Given the description of an element on the screen output the (x, y) to click on. 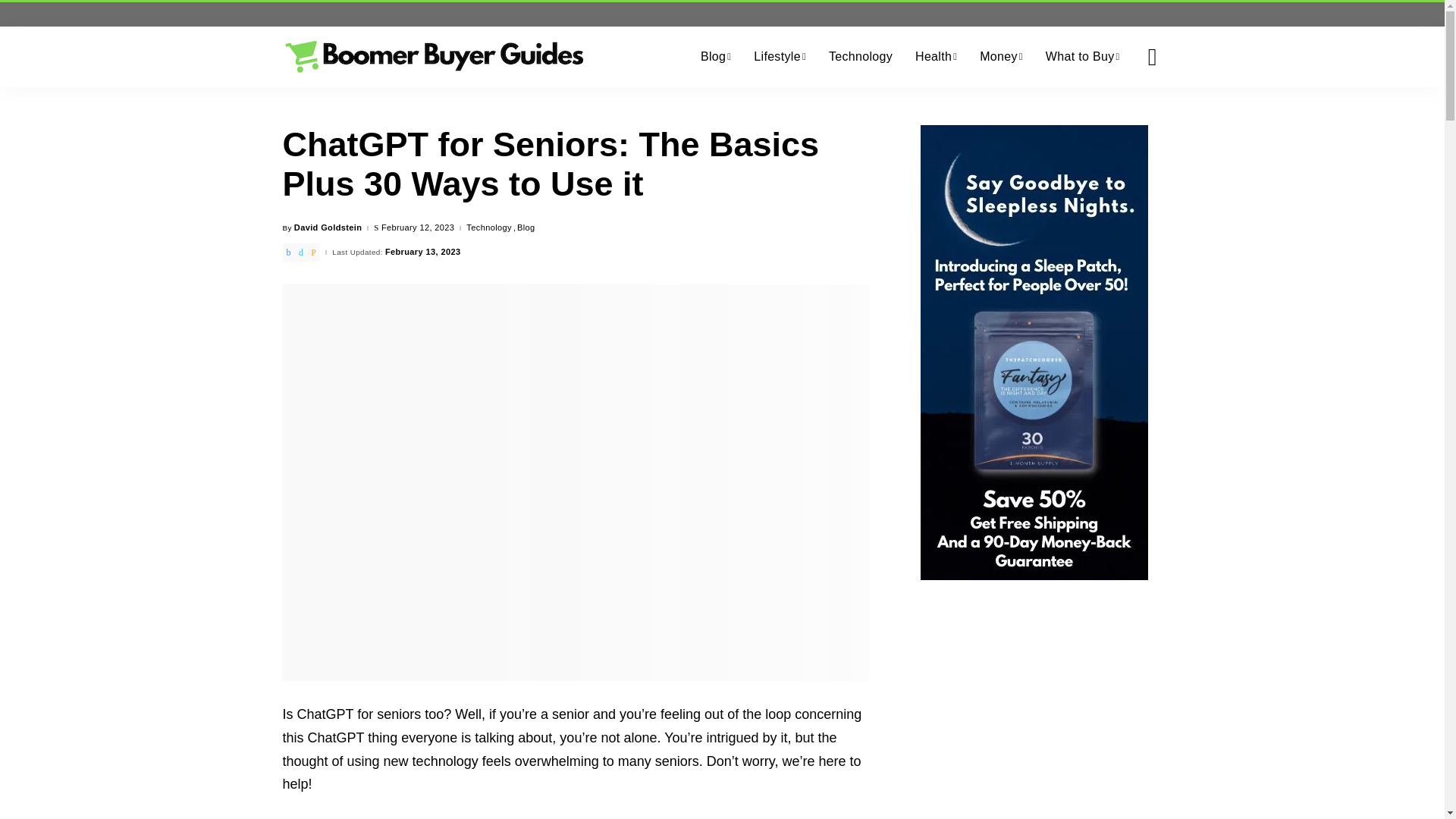
2023-02-12T09:40:13-08:00 (417, 227)
Boomer Buyer Guides (433, 56)
